Given the description of an element on the screen output the (x, y) to click on. 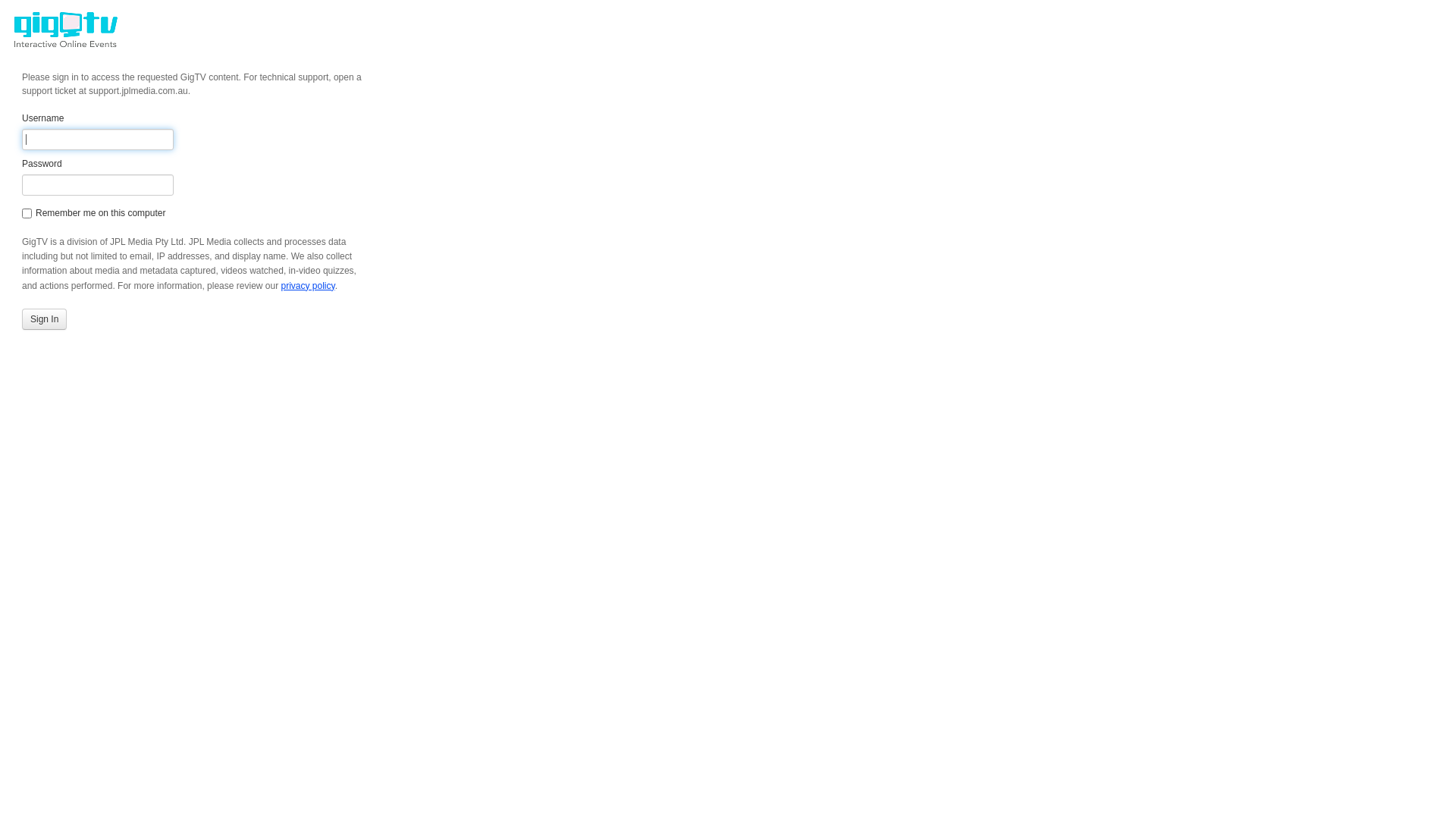
Sign In Element type: text (43, 318)
privacy policy Element type: text (307, 285)
